Given the description of an element on the screen output the (x, y) to click on. 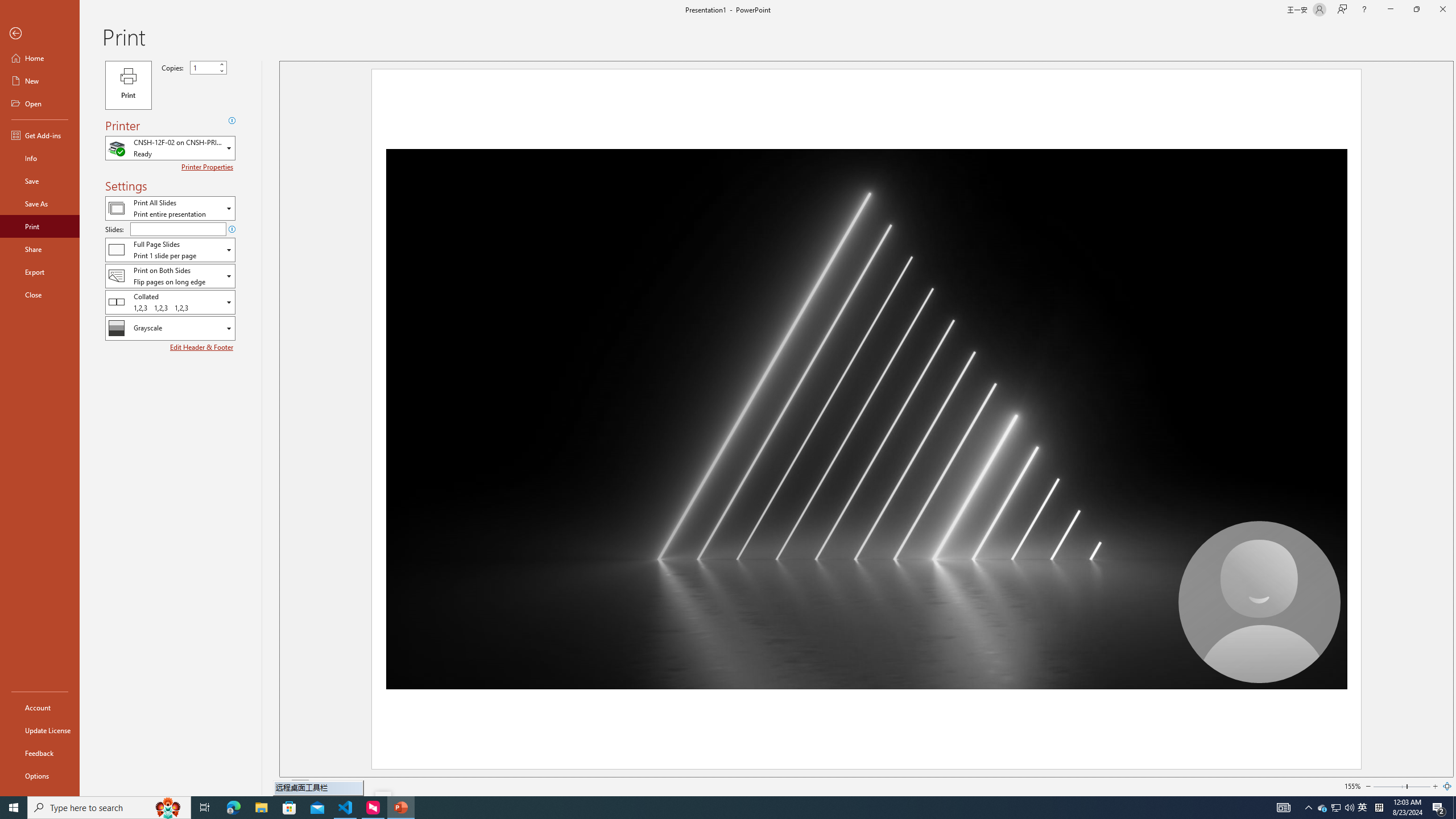
Info (40, 157)
Next Page (328, 786)
Two-Sided Printing (169, 275)
Get Add-ins (40, 134)
155% (1352, 785)
Previous Page (285, 786)
Account (40, 707)
Color/Grayscale (169, 328)
Back (40, 33)
